Given the description of an element on the screen output the (x, y) to click on. 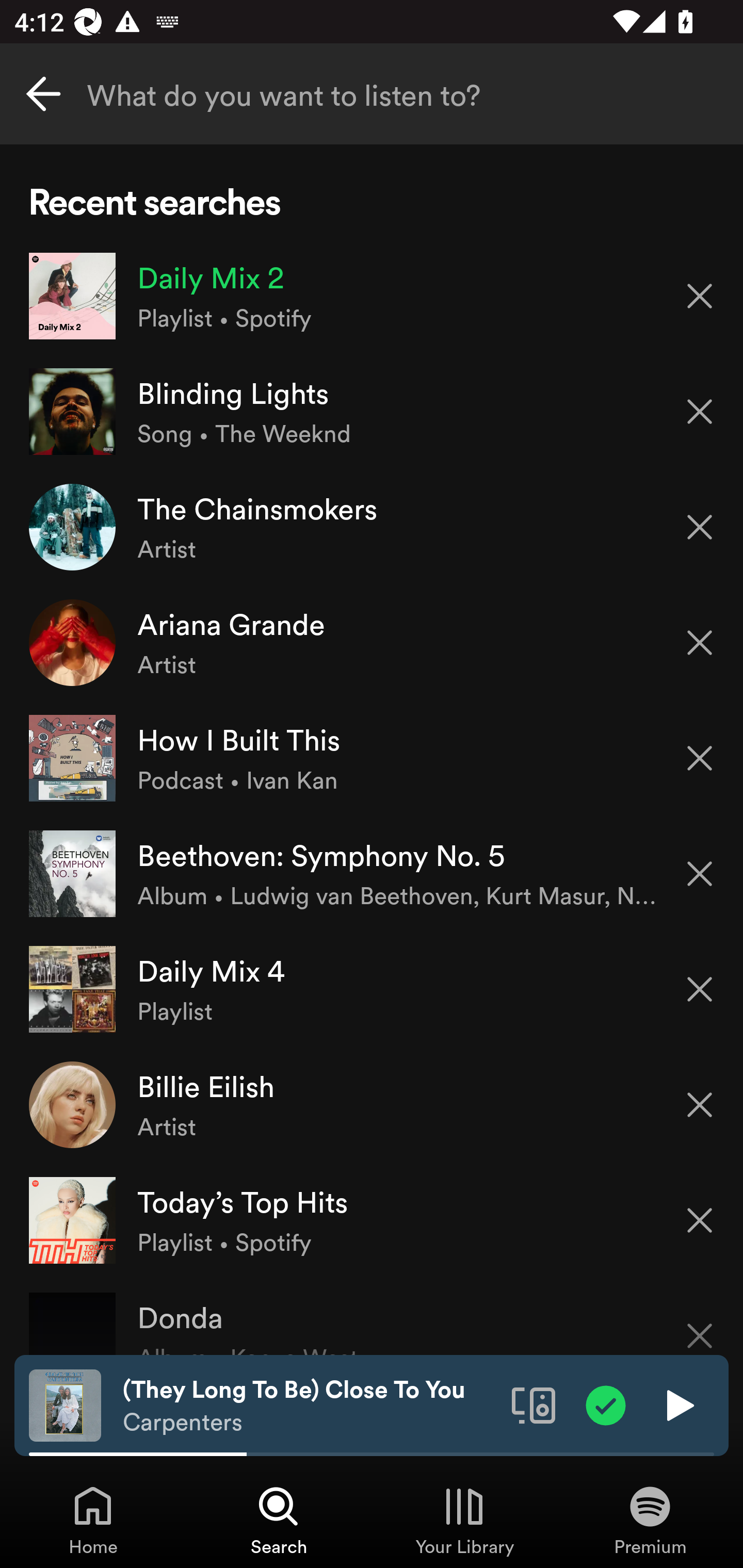
What do you want to listen to? (371, 93)
Cancel (43, 93)
Daily Mix 2 Playlist • Spotify Remove (371, 296)
Remove (699, 295)
Blinding Lights Song • The Weeknd Remove (371, 411)
Remove (699, 411)
The Chainsmokers Artist Remove (371, 526)
Remove (699, 527)
Ariana Grande Artist Remove (371, 642)
Remove (699, 642)
How I Built This Podcast • Ivan Kan Remove (371, 757)
Remove (699, 758)
Remove (699, 874)
Daily Mix 4 Playlist Remove (371, 989)
Remove (699, 989)
Billie Eilish Artist Remove (371, 1104)
Remove (699, 1104)
Today’s Top Hits Playlist • Spotify Remove (371, 1219)
Remove (699, 1220)
Donda Album • Kanye West Remove (371, 1315)
Remove (699, 1323)
(They Long To Be) Close To You Carpenters (309, 1405)
The cover art of the currently playing track (64, 1404)
Connect to a device. Opens the devices menu (533, 1404)
Item added (605, 1404)
Play (677, 1404)
Home, Tab 1 of 4 Home Home (92, 1519)
Search, Tab 2 of 4 Search Search (278, 1519)
Your Library, Tab 3 of 4 Your Library Your Library (464, 1519)
Premium, Tab 4 of 4 Premium Premium (650, 1519)
